Given the description of an element on the screen output the (x, y) to click on. 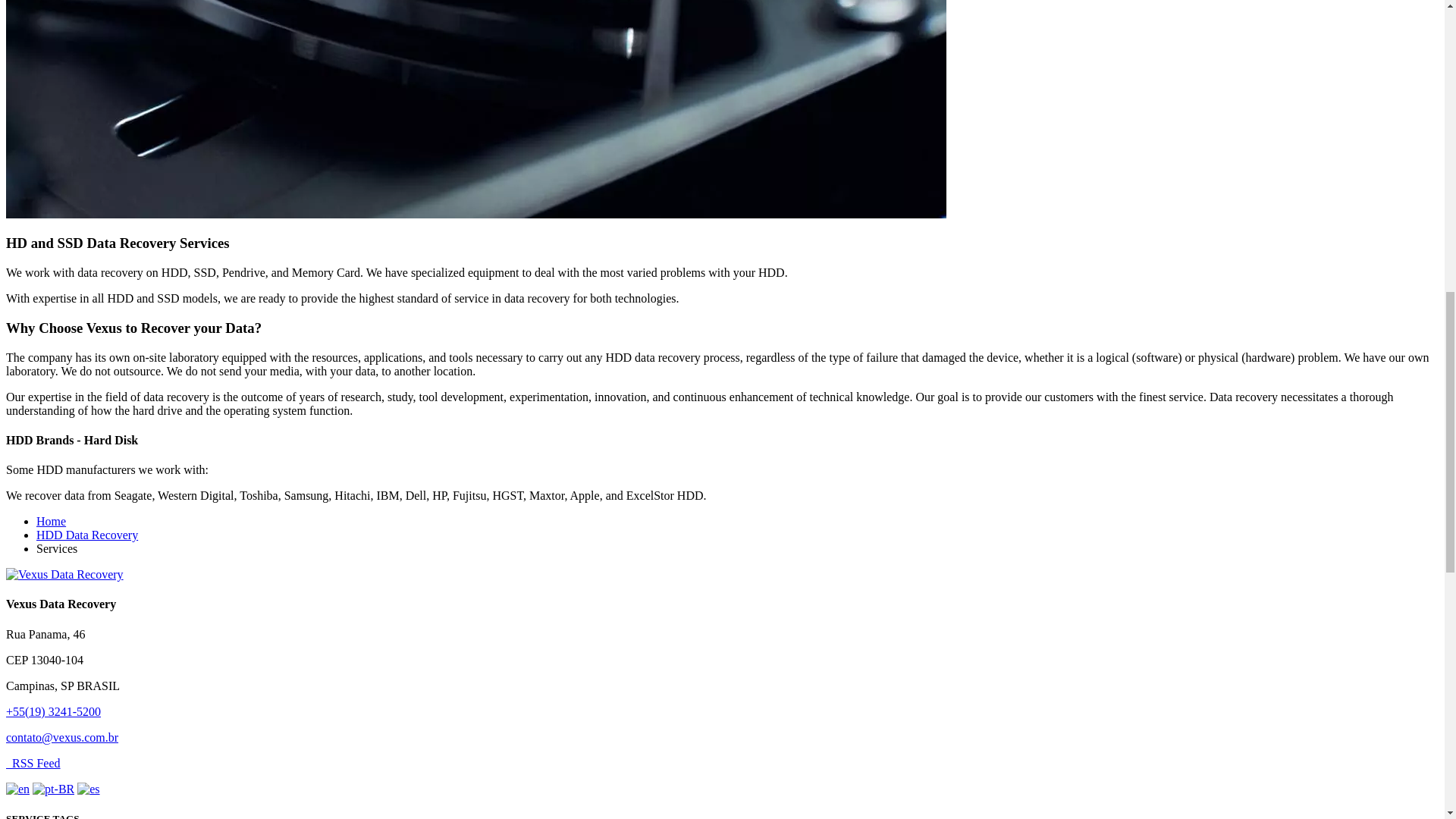
HDD Data Recovery (87, 534)
  RSS Feed (33, 762)
Home (50, 521)
